Given the description of an element on the screen output the (x, y) to click on. 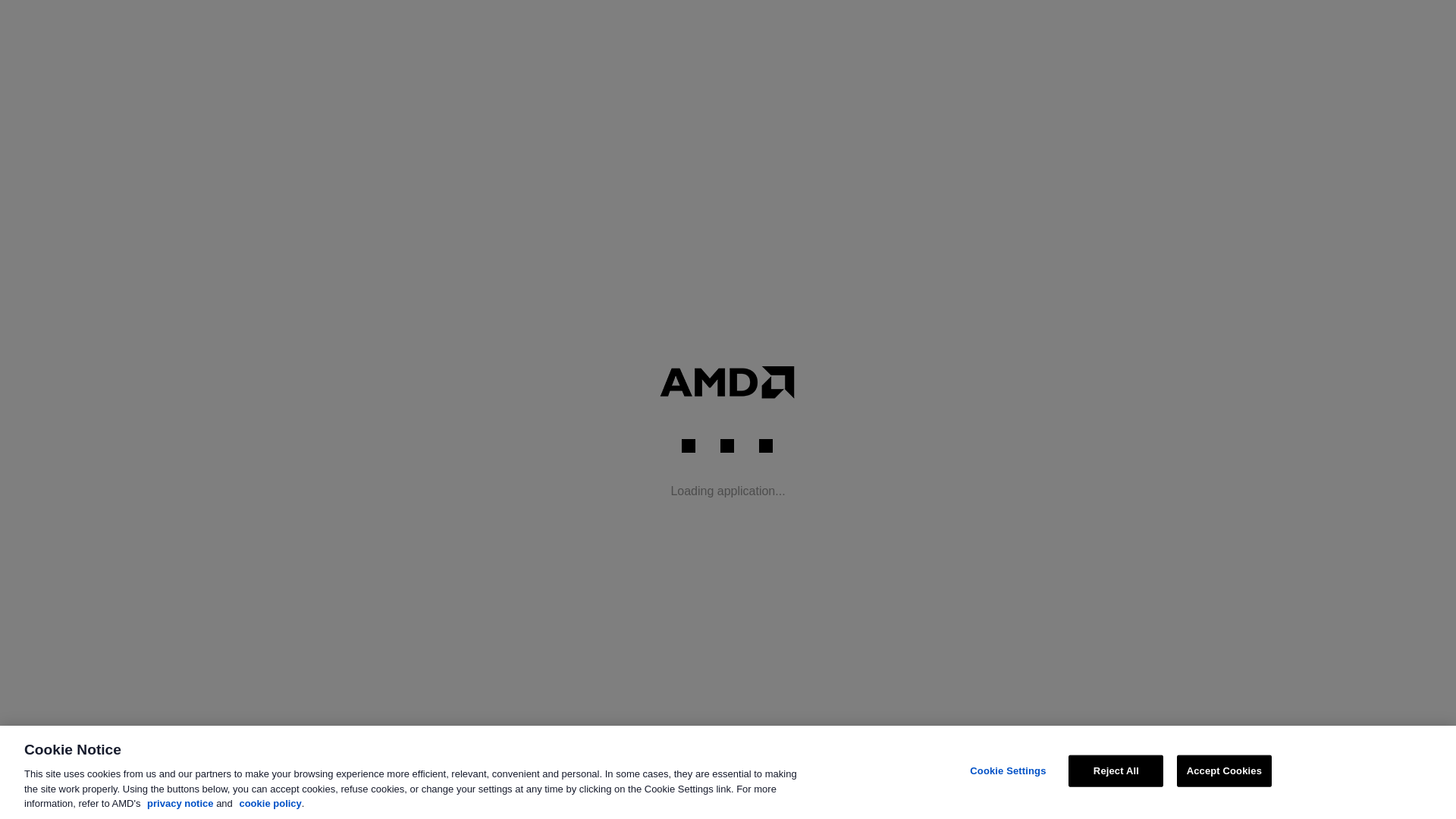
Reject All (1115, 771)
privacy notice (179, 803)
Accept Cookies (1223, 771)
cookie policy (269, 803)
Cookie Settings (1007, 771)
